Given the description of an element on the screen output the (x, y) to click on. 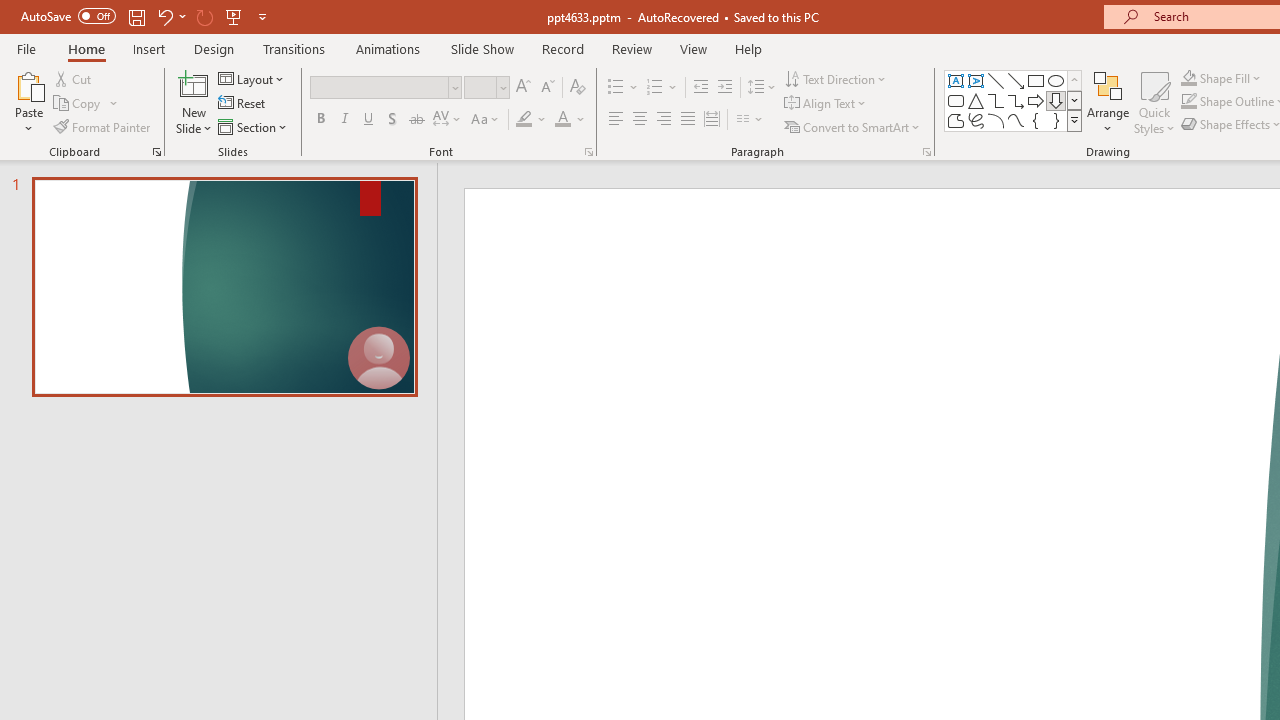
Shape Outline Dark Red, Accent 1 (1188, 101)
